Given the description of an element on the screen output the (x, y) to click on. 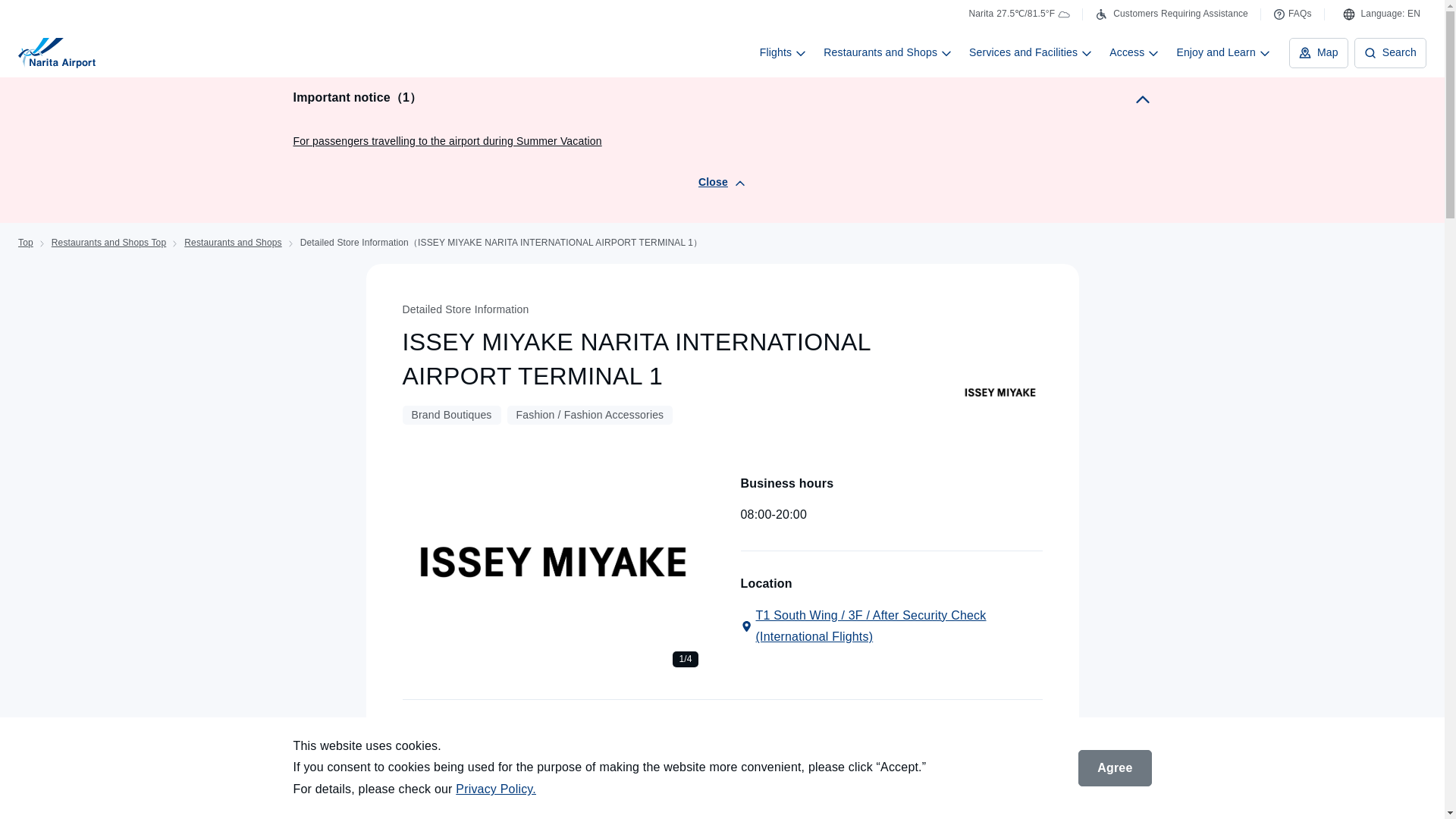
Top (25, 243)
Open map (890, 627)
Language: EN (1381, 14)
Flights (783, 52)
Restaurants and Shops (887, 52)
FAQs (1291, 13)
Restaurants and Shops (232, 243)
Close (721, 182)
Map (1318, 52)
